Given the description of an element on the screen output the (x, y) to click on. 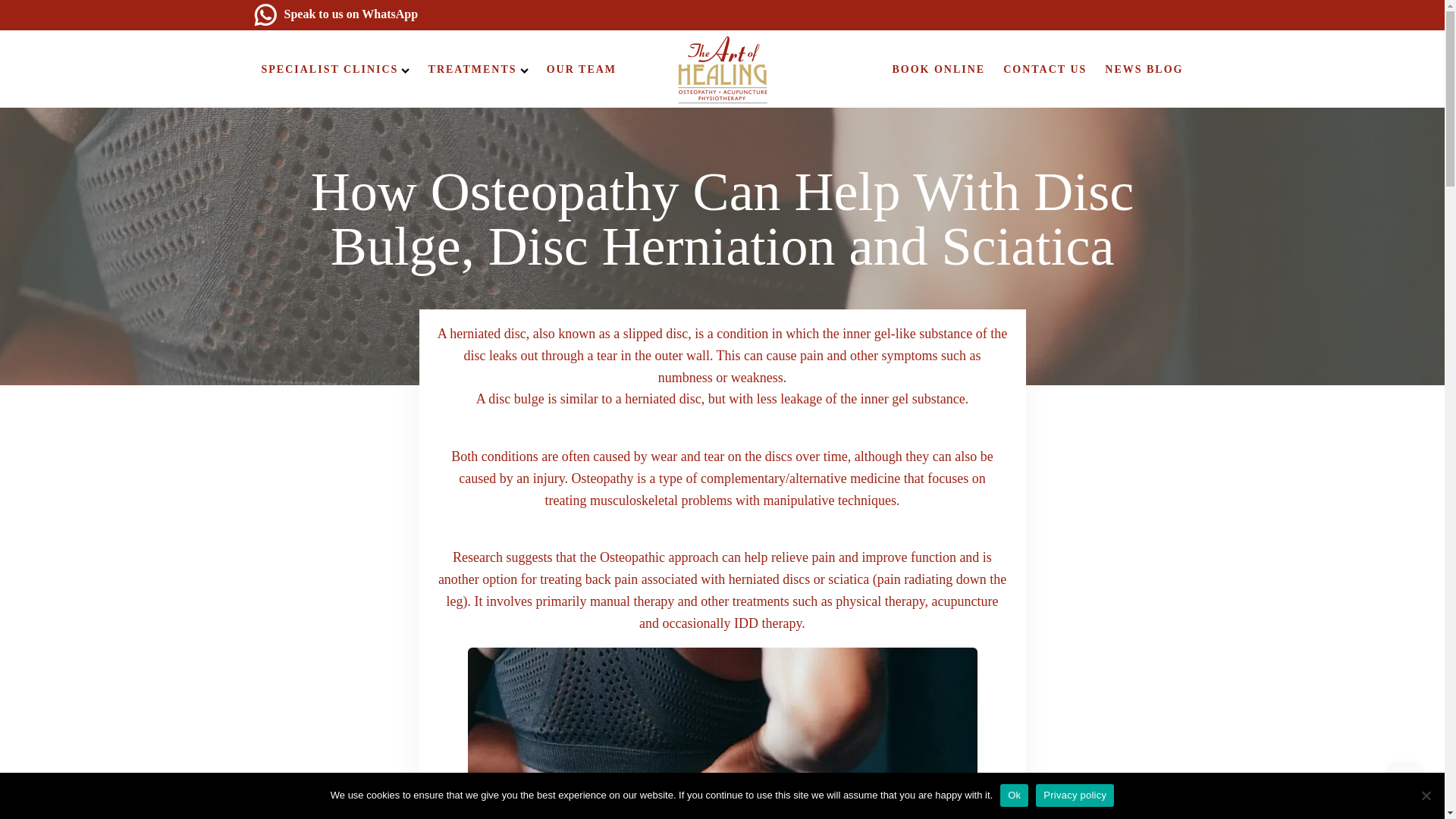
Speak to us on WhatsApp  (335, 14)
OUR TEAM (581, 69)
TREATMENTS (478, 69)
NEWS BLOG (1144, 69)
No (1425, 795)
CONTACT US (1045, 69)
SPECIALIST CLINICS (335, 69)
BOOK ONLINE (938, 69)
